Given the description of an element on the screen output the (x, y) to click on. 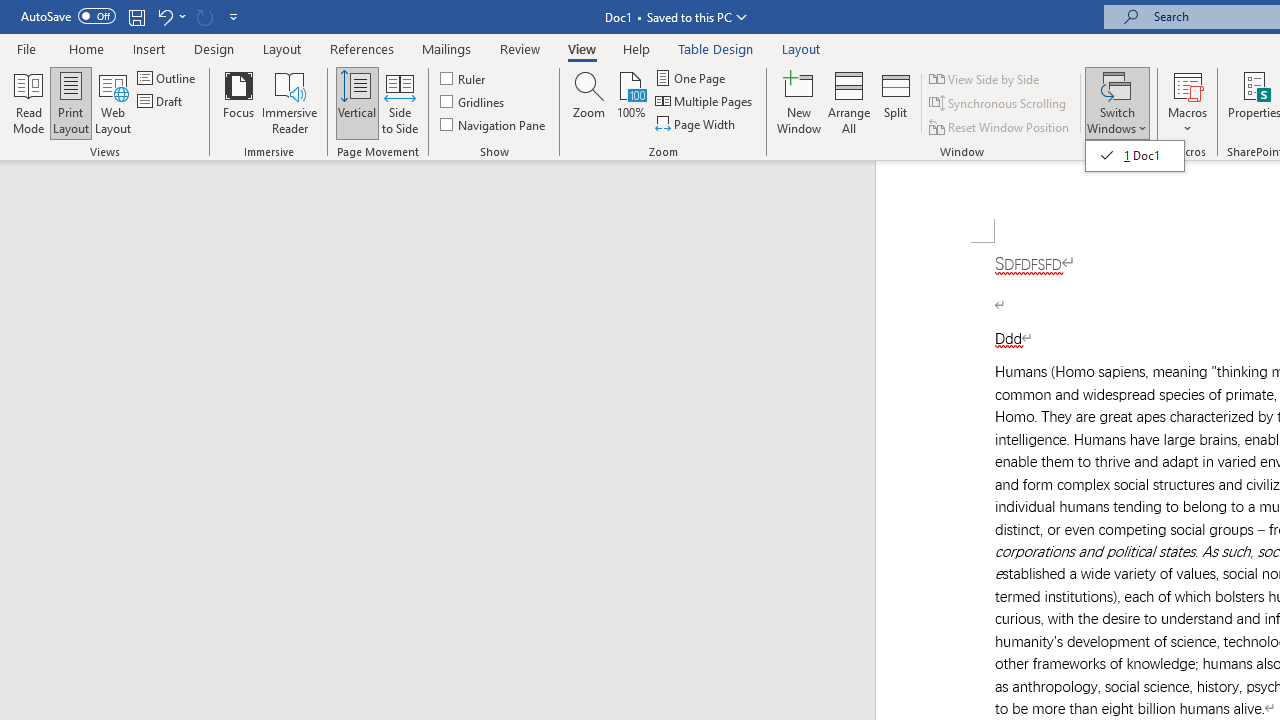
Arrange All (848, 102)
Design (214, 48)
Side to Side (399, 102)
Mailings (447, 48)
Print Layout (70, 102)
Page Width (696, 124)
Split (895, 102)
References (362, 48)
View (582, 48)
Help (637, 48)
New Window (799, 102)
View Macros (1187, 84)
Quick Access Toolbar (131, 16)
Synchronous Scrolling (998, 103)
Reset Window Position (1000, 126)
